Given the description of an element on the screen output the (x, y) to click on. 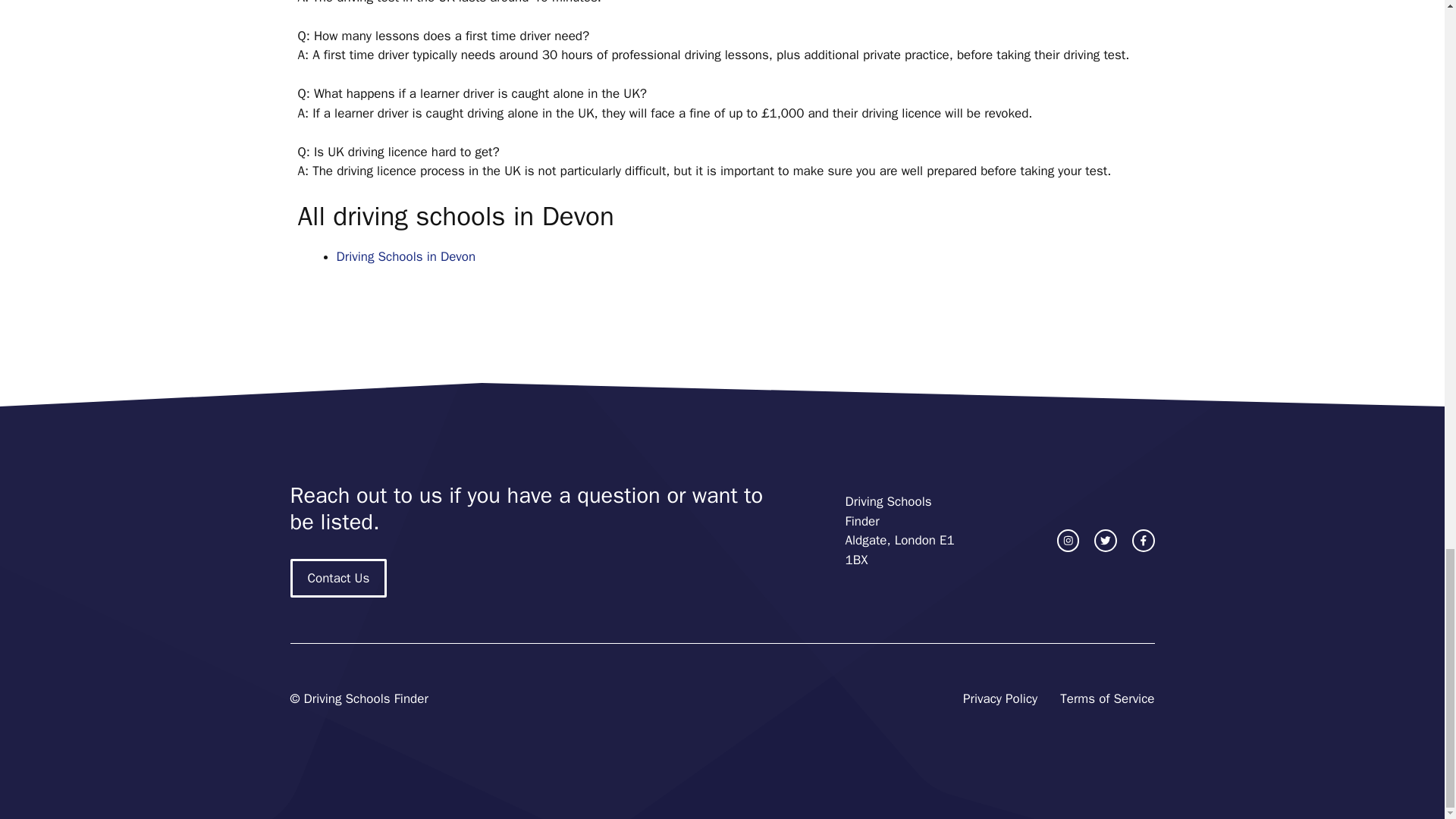
Terms of Service (1106, 699)
Driving Schools in Devon (406, 256)
Contact Us (338, 578)
Driving Schools in Devon (406, 256)
Privacy Policy (999, 699)
